Given the description of an element on the screen output the (x, y) to click on. 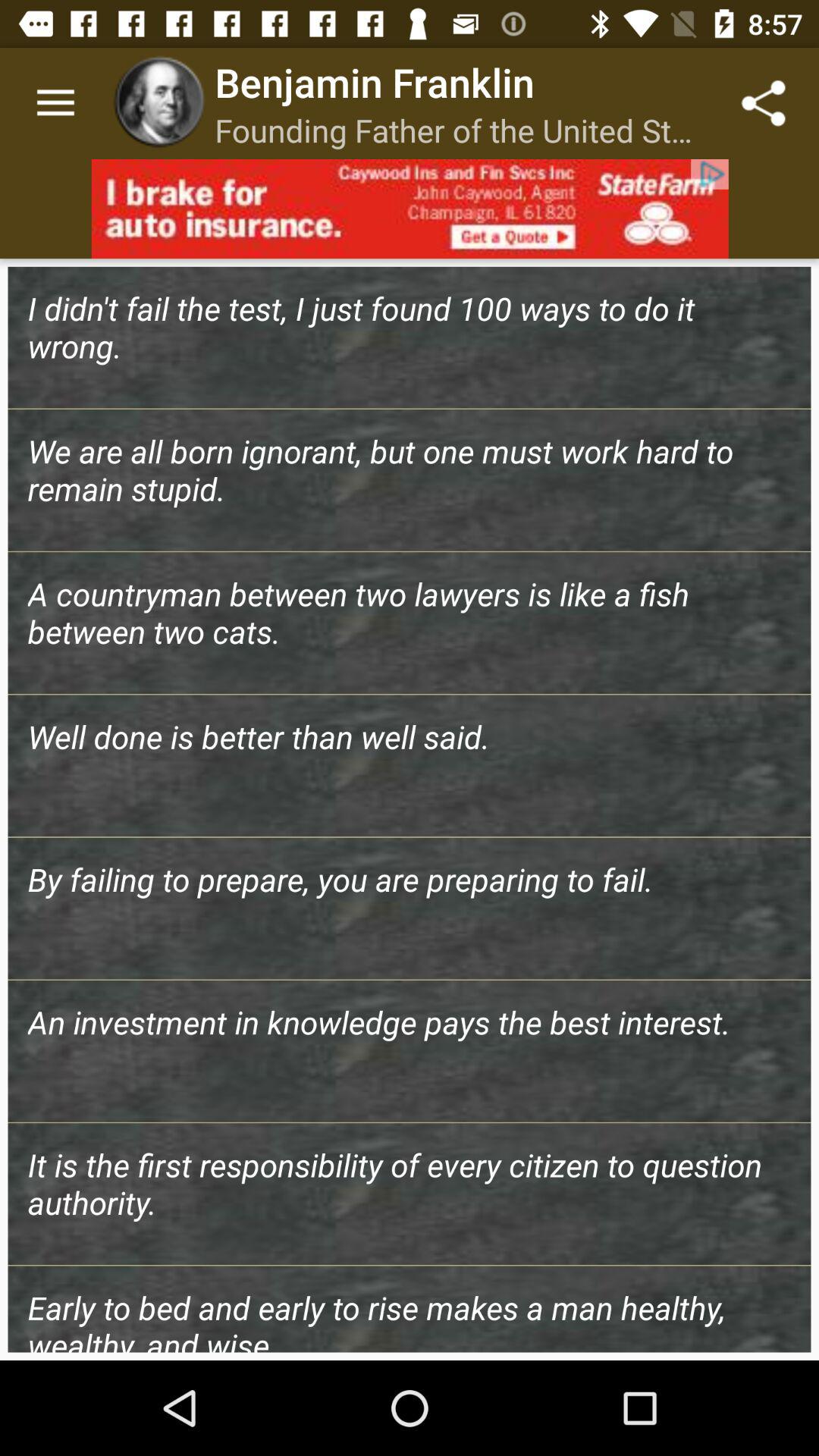
select the advertisement (409, 208)
